Given the description of an element on the screen output the (x, y) to click on. 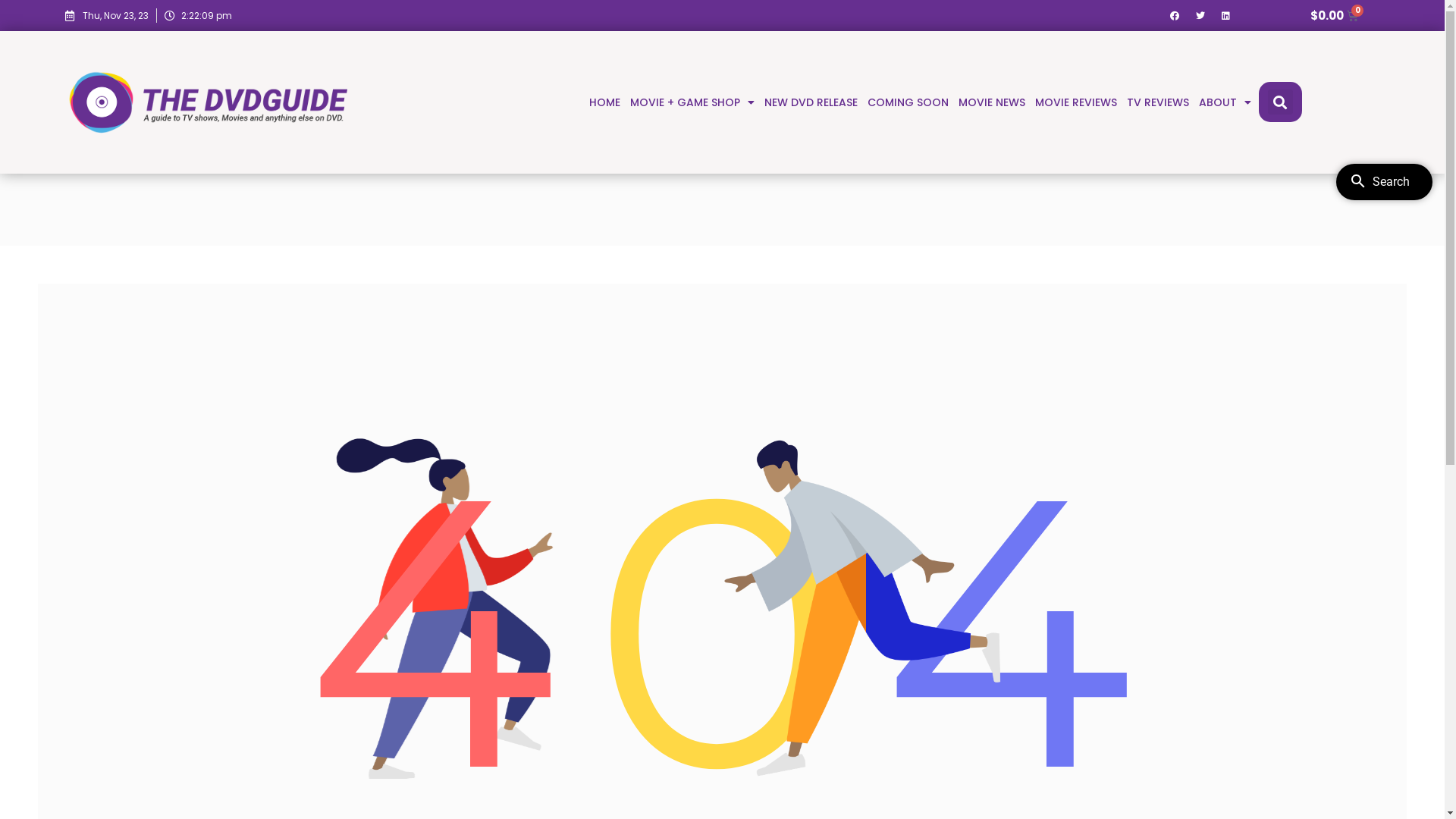
NEW DVD RELEASE Element type: text (810, 101)
MOVIE NEWS Element type: text (991, 101)
MOVIE + GAME SHOP Element type: text (692, 101)
COMING SOON Element type: text (907, 101)
$0.00
0 Element type: text (1334, 15)
ABOUT Element type: text (1224, 101)
HOME Element type: text (604, 101)
TV REVIEWS Element type: text (1157, 101)
MOVIE REVIEWS Element type: text (1076, 101)
